Given the description of an element on the screen output the (x, y) to click on. 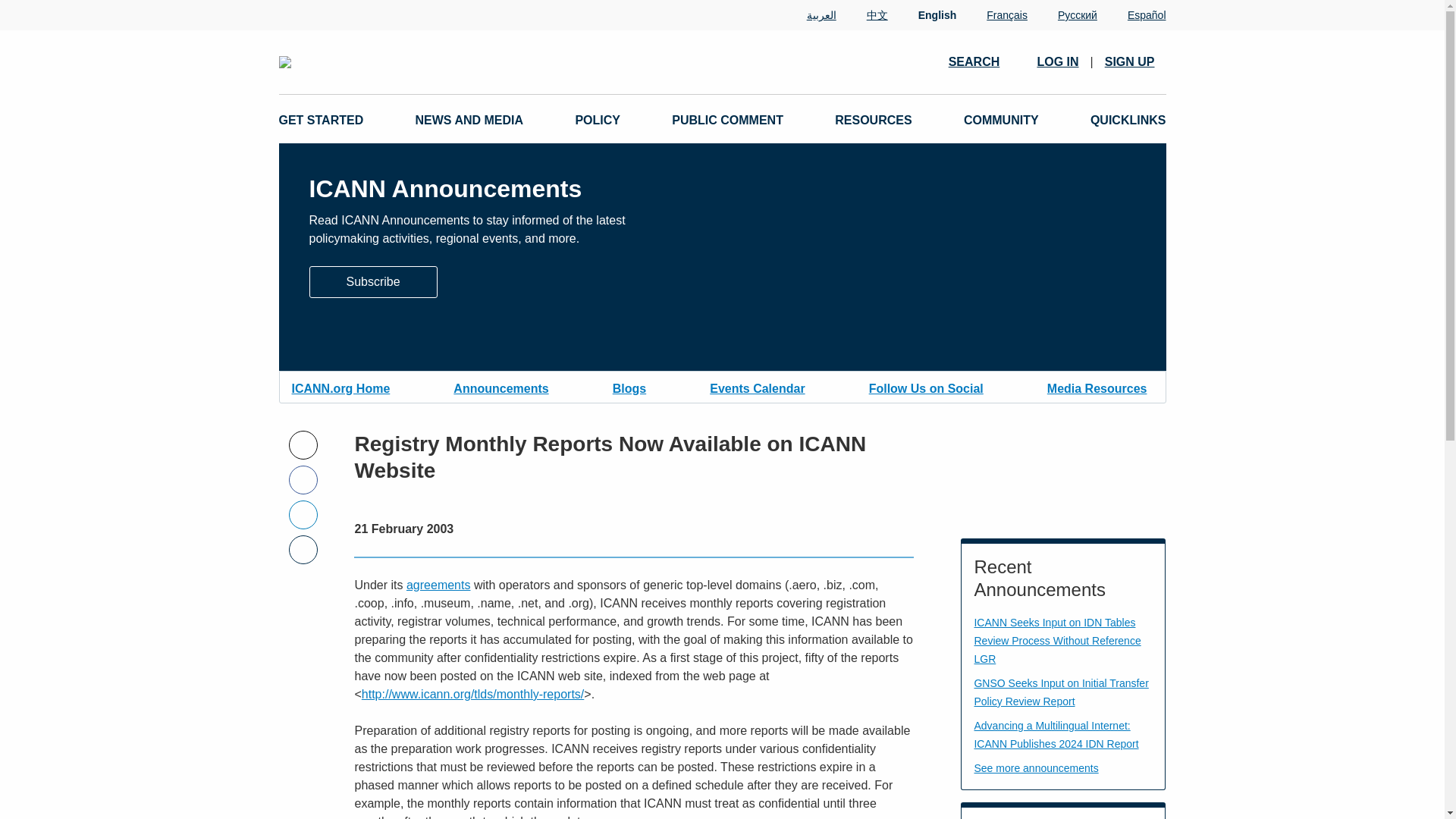
Subscribe (373, 280)
Announcements (500, 386)
SEARCH (981, 60)
Follow Us on Social (926, 386)
SIGN UP (1129, 61)
LOG IN (1057, 62)
ICANN.org Home (340, 386)
NEWS AND MEDIA (469, 120)
Media Resources (1096, 386)
PUBLIC COMMENT (727, 120)
QUICKLINKS (1128, 120)
Logo (452, 61)
Events Calendar (757, 386)
Subscribe (373, 282)
COMMUNITY (1001, 120)
